Given the description of an element on the screen output the (x, y) to click on. 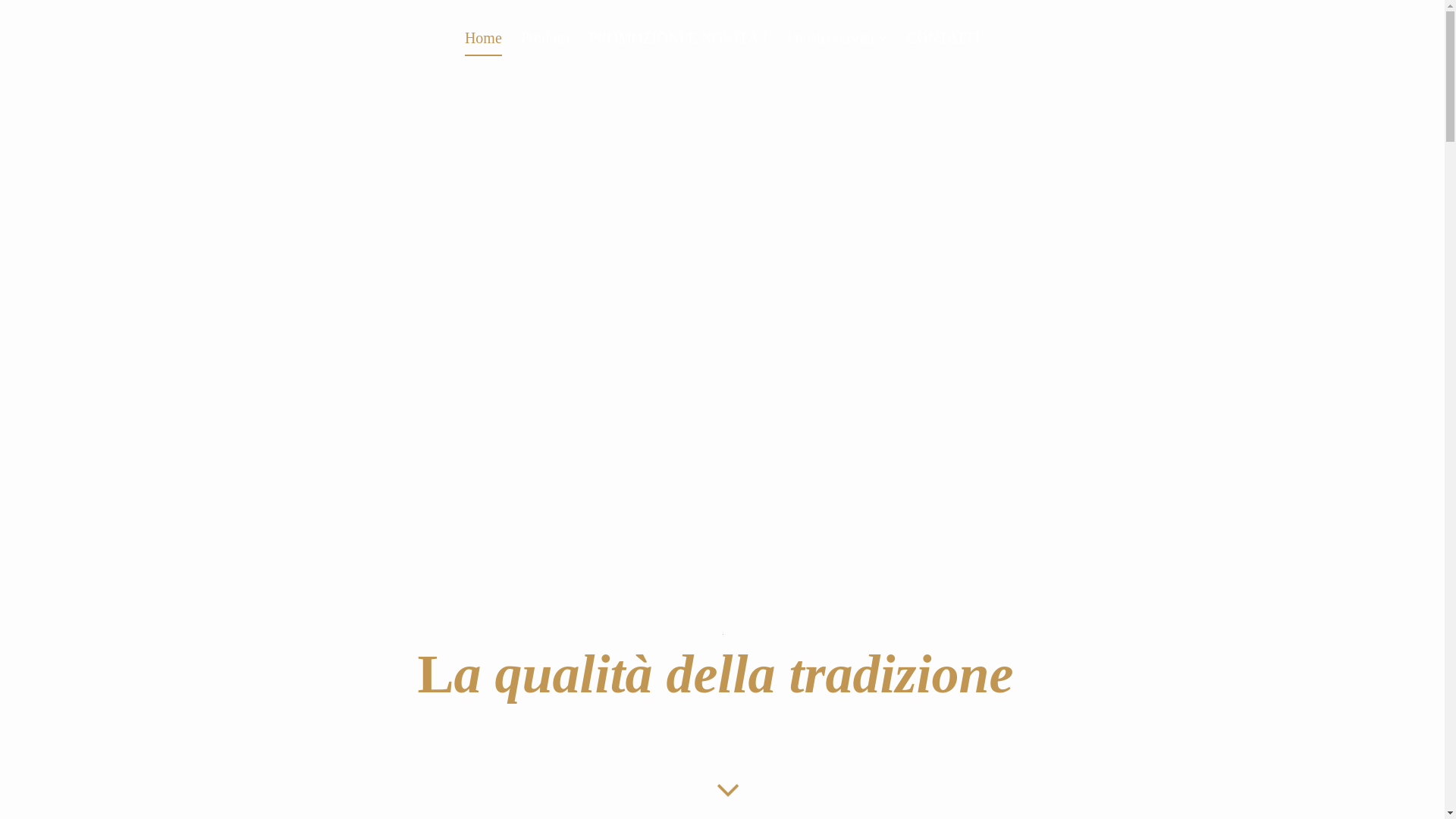
CONTATTI Element type: text (942, 42)
Home Element type: text (483, 42)
Prodotti Element type: text (544, 42)
I nostri servizi Element type: text (837, 42)
